Given the description of an element on the screen output the (x, y) to click on. 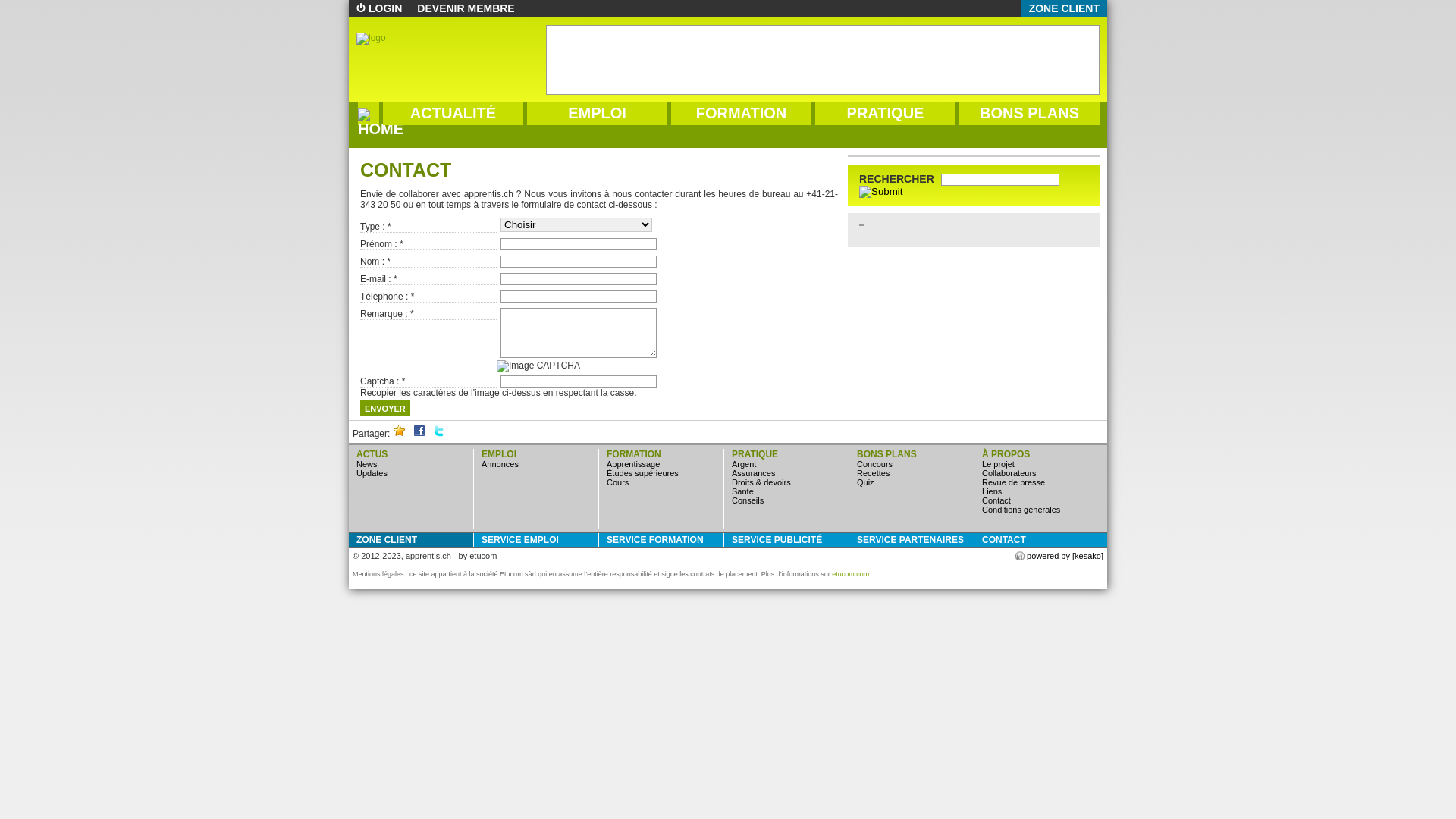
ZONE CLIENT Element type: text (412, 539)
Envoyer Element type: text (385, 408)
FORMATION Element type: text (741, 113)
conseils Element type: text (747, 500)
Contact Element type: text (996, 500)
ZONE CLIENT Element type: text (1064, 8)
SERVICE EMPLOI Element type: text (537, 539)
CONTACT Element type: text (1038, 539)
twitter Element type: hover (438, 433)
quiz Element type: text (865, 481)
DEVENIR MEMBRE Element type: text (465, 8)
apprentissage Element type: text (632, 463)
add_to_bookmarks Element type: hover (399, 433)
SERVICE PARTENAIRES Element type: text (912, 539)
Image CAPTCHA Element type: hover (538, 366)
droits & devoirs Element type: text (760, 481)
facebook Element type: hover (419, 433)
etucom.com Element type: text (850, 573)
LOGIN Element type: text (378, 8)
updates Element type: text (371, 472)
PRATIQUE Element type: text (885, 113)
argent Element type: text (743, 463)
EMPLOI Element type: text (597, 113)
concours Element type: text (874, 463)
assurances Element type: text (753, 472)
Liens Element type: text (991, 490)
Le projet Element type: text (998, 463)
powered by [kesako] Element type: text (1059, 555)
Collaborateurs Element type: text (1009, 472)
BONS PLANS Element type: text (1029, 113)
Recettes Element type: text (872, 472)
Revue de presse Element type: text (1013, 481)
annonces Element type: text (499, 463)
sante Element type: text (742, 490)
SERVICE FORMATION Element type: text (662, 539)
news Element type: text (366, 463)
cours Element type: text (617, 481)
